Given the description of an element on the screen output the (x, y) to click on. 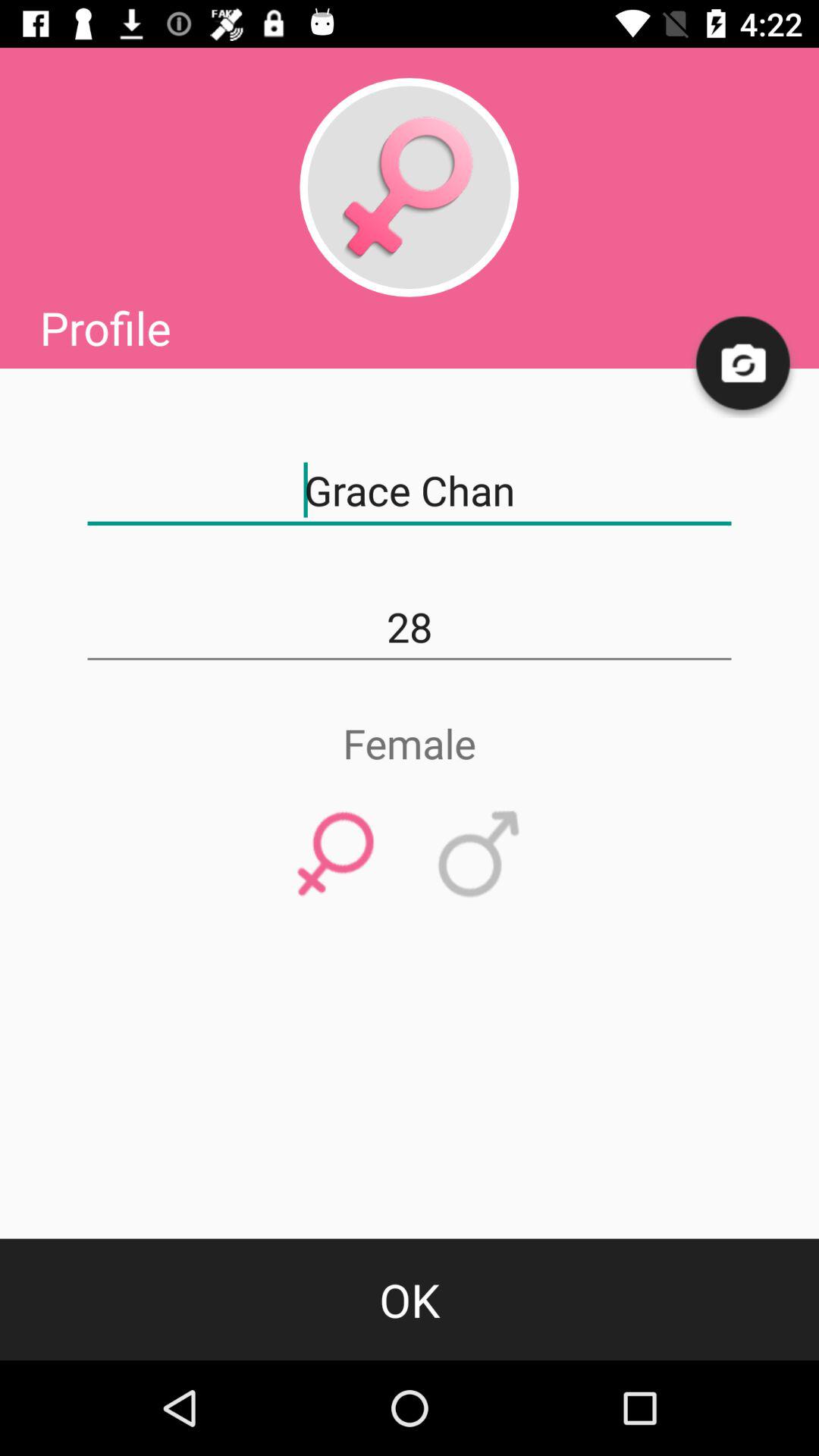
select icon below the grace chan icon (409, 626)
